Given the description of an element on the screen output the (x, y) to click on. 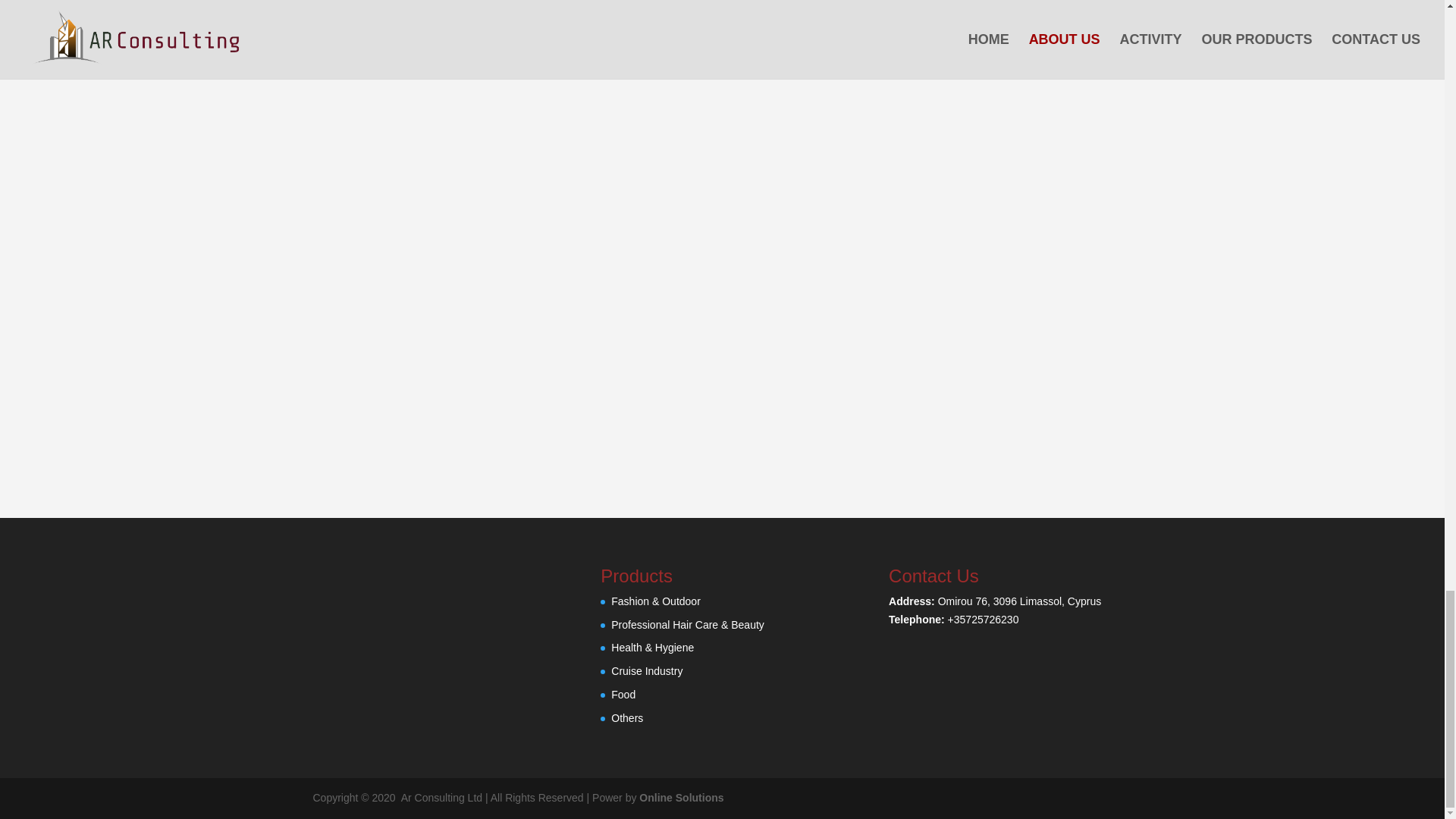
Online Solutions (681, 797)
Food (622, 694)
Others (627, 717)
Cruise Industry (646, 671)
